Given the description of an element on the screen output the (x, y) to click on. 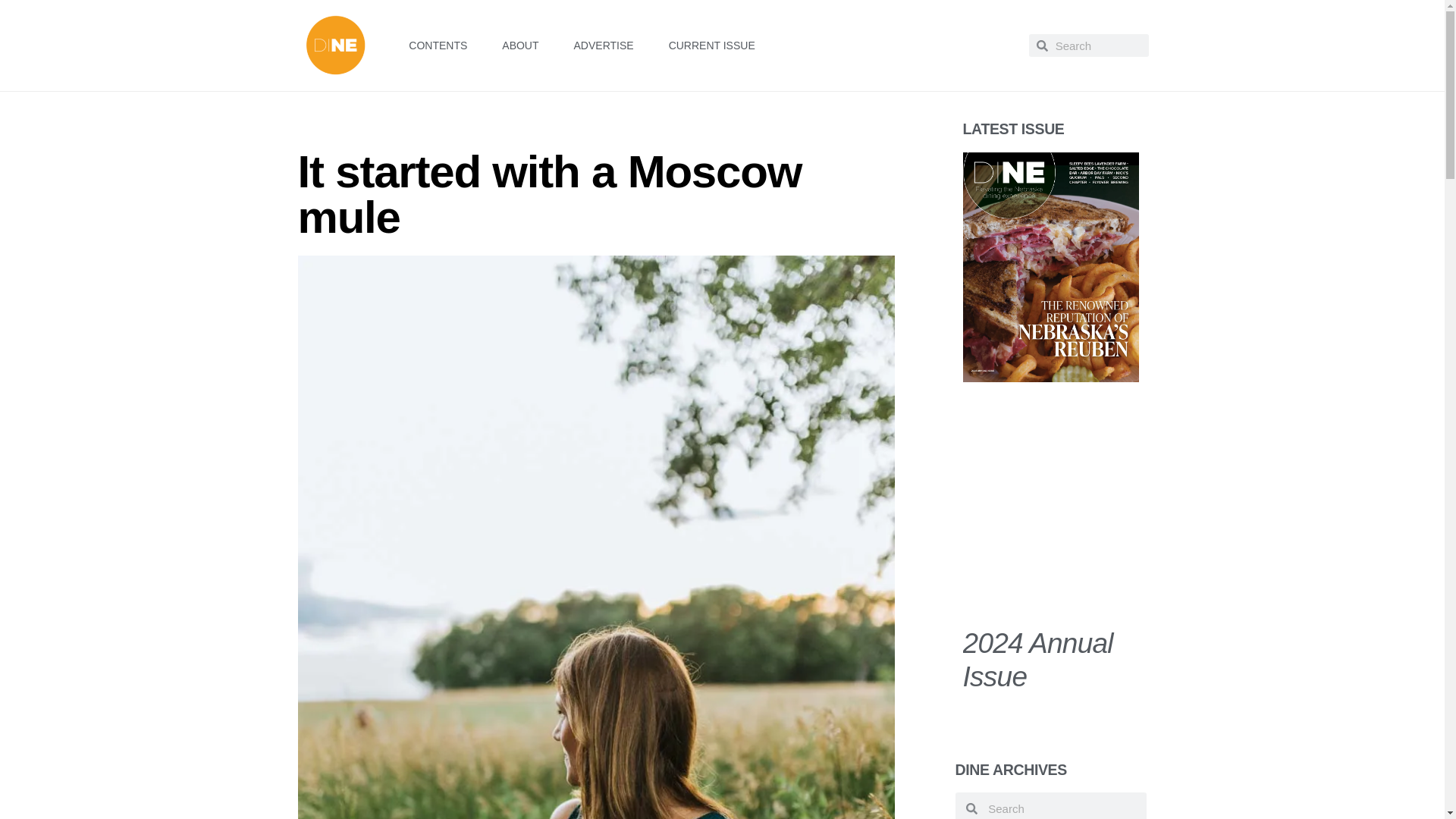
CONTENTS (437, 45)
Dine Nebraska logo DINE Nebraska (334, 45)
ADVERTISE (604, 45)
CURRENT ISSUE (711, 45)
ABOUT (519, 45)
